Given the description of an element on the screen output the (x, y) to click on. 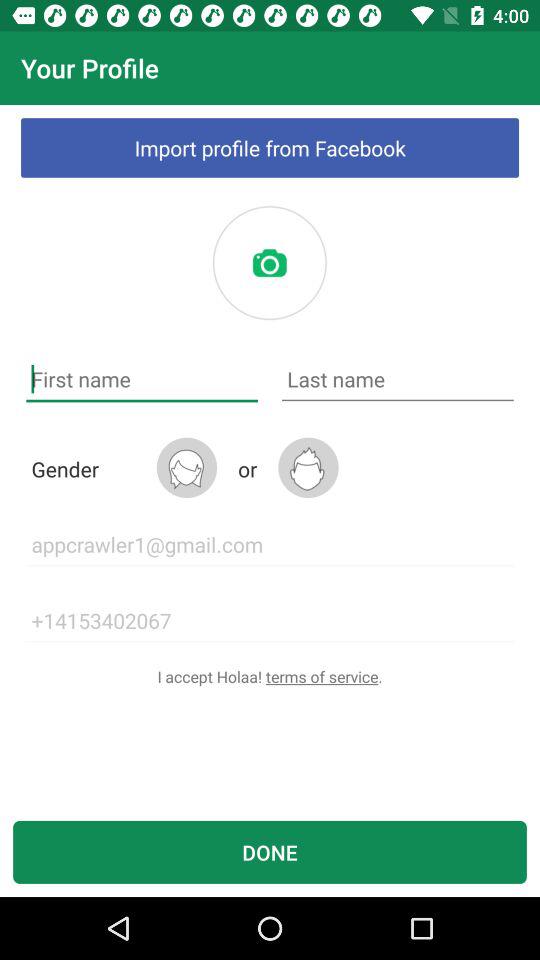
switch male gender option (308, 467)
